Given the description of an element on the screen output the (x, y) to click on. 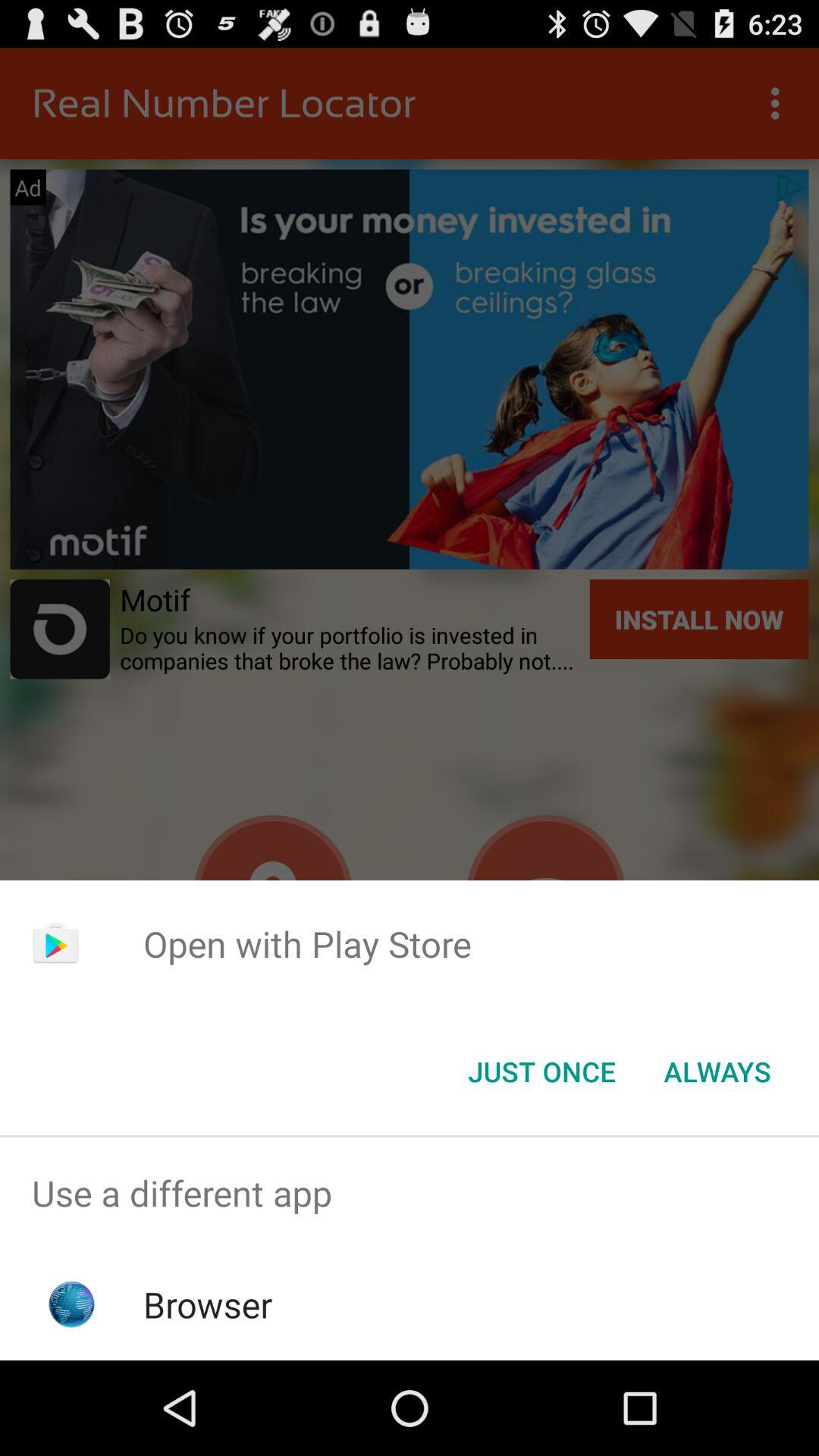
click button next to always button (541, 1071)
